Given the description of an element on the screen output the (x, y) to click on. 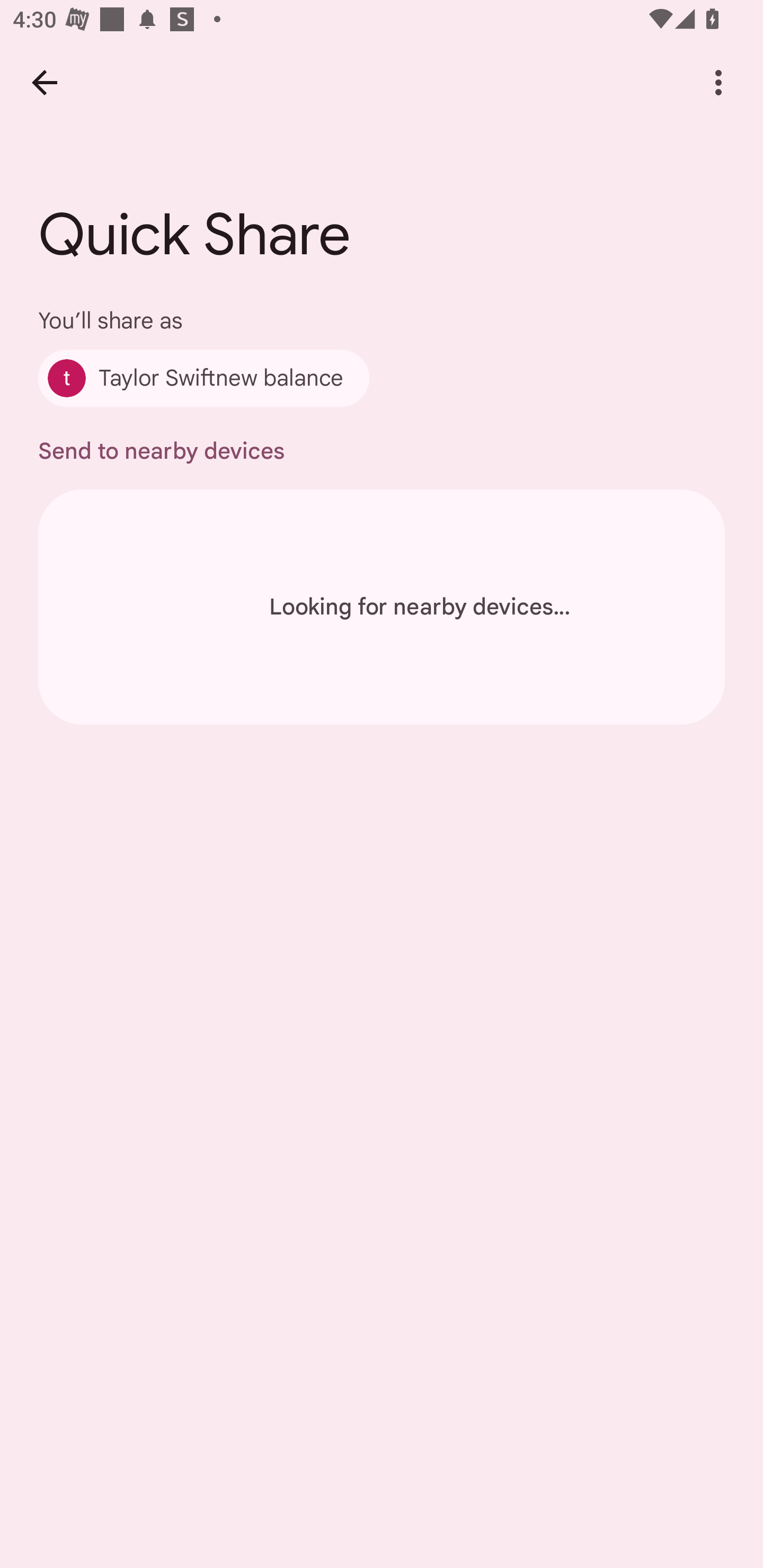
Back (44, 81)
More (718, 81)
Taylor Swiftnew balance (203, 378)
